Given the description of an element on the screen output the (x, y) to click on. 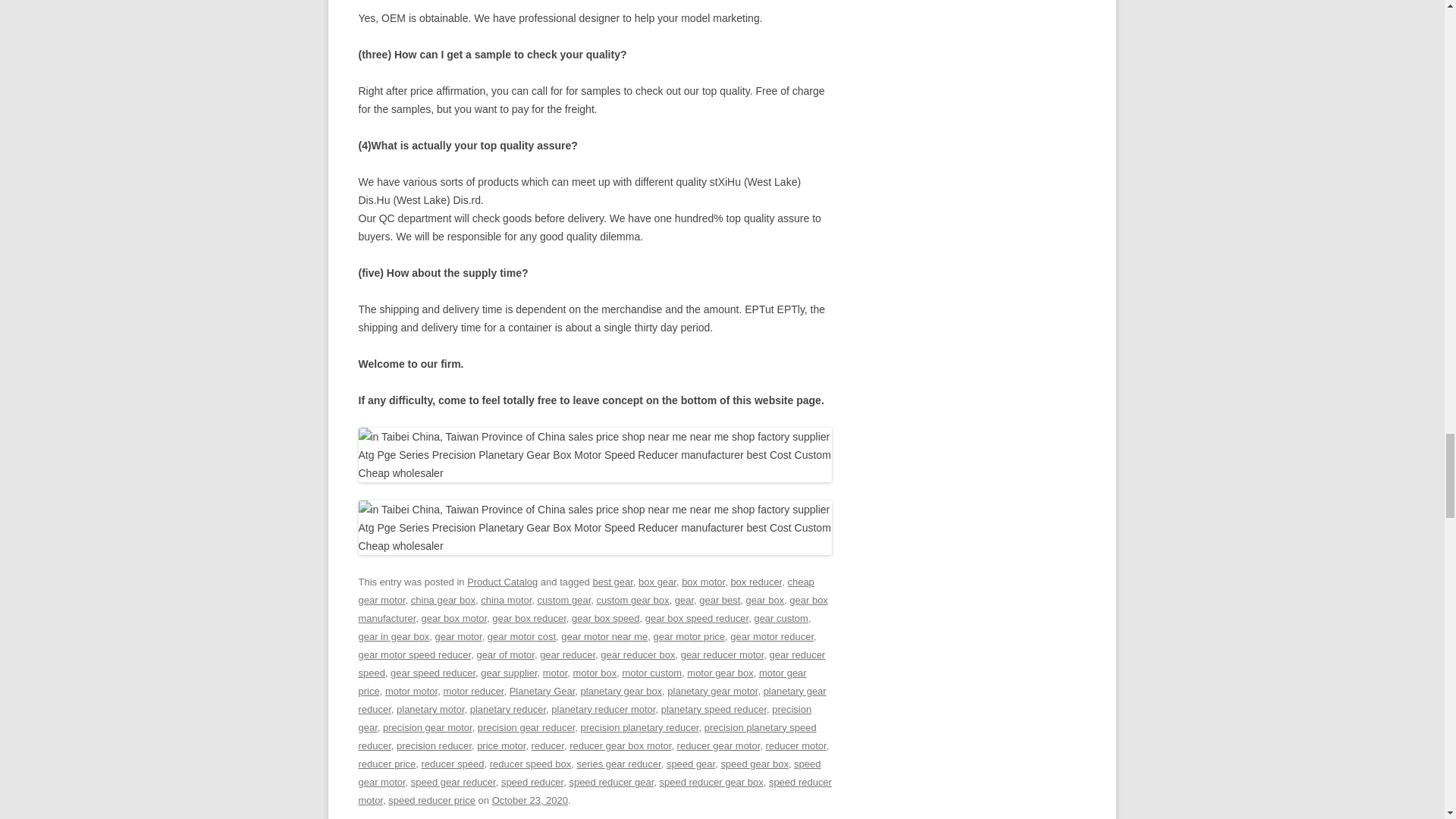
gear (684, 600)
best gear (611, 582)
box motor (703, 582)
china gear box (443, 600)
gear box manufacturer (592, 609)
custom gear (564, 600)
gear box (764, 600)
Product Catalog (502, 582)
box gear (658, 582)
